Given the description of an element on the screen output the (x, y) to click on. 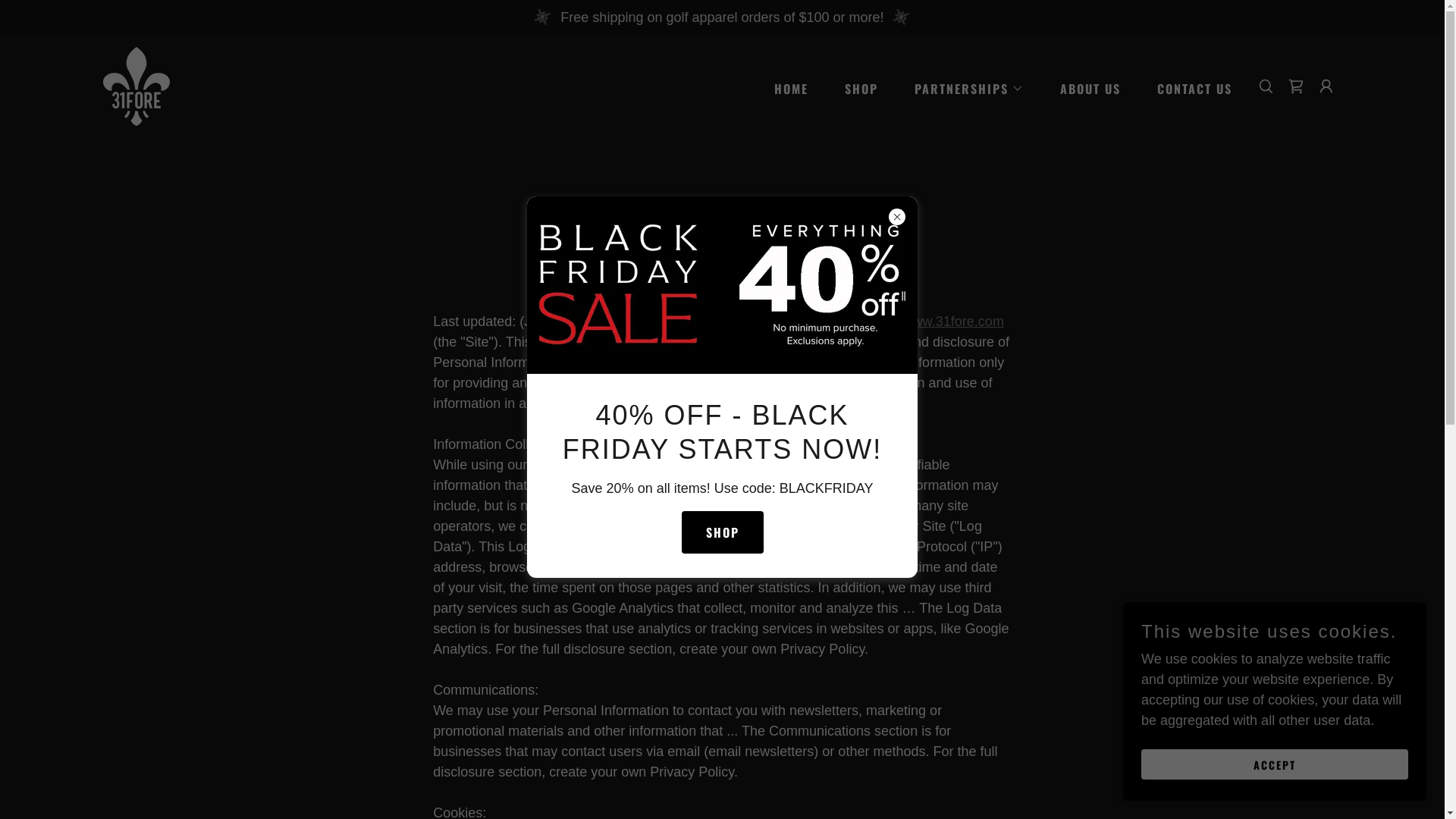
31FORE Element type: hover (136, 85)
HOME Element type: text (784, 87)
ABOUT US Element type: text (1084, 87)
ACCEPT Element type: text (1274, 764)
CONTACT US Element type: text (1188, 87)
SHOP Element type: text (855, 87)
PARTNERSHIPS Element type: text (962, 87)
http://www.31fore.com Element type: text (936, 321)
SHOP Element type: text (721, 532)
